Given the description of an element on the screen output the (x, y) to click on. 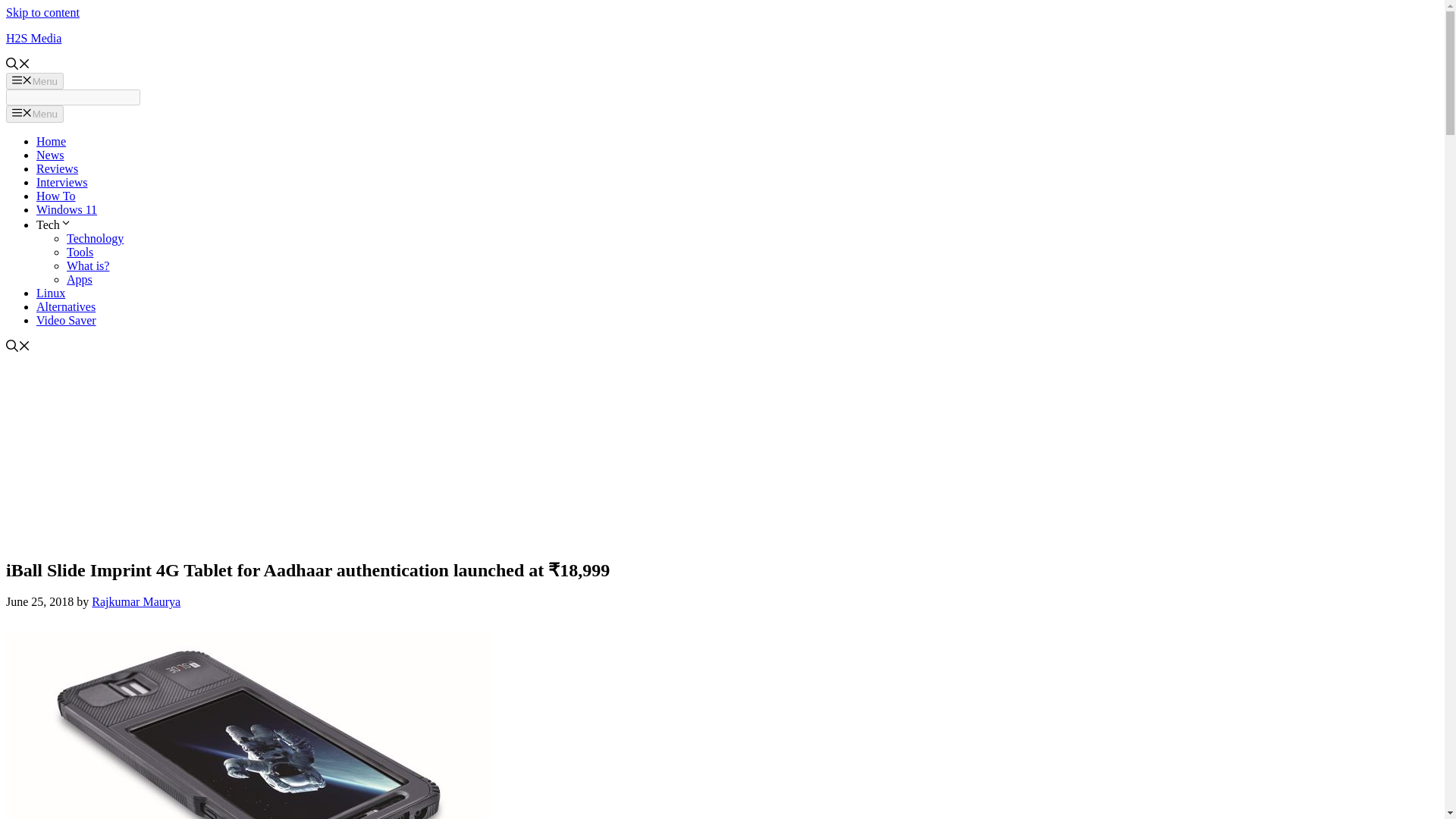
Linux (50, 292)
Video Saver (66, 319)
Tools (79, 251)
Reviews (57, 168)
Information (87, 265)
How To (55, 195)
Search (72, 97)
H2S Media (33, 38)
Apps (79, 278)
Alternatives (66, 306)
Technology (94, 237)
Home (50, 141)
Menu (34, 113)
Skip to content (42, 11)
Skip to content (42, 11)
